Given the description of an element on the screen output the (x, y) to click on. 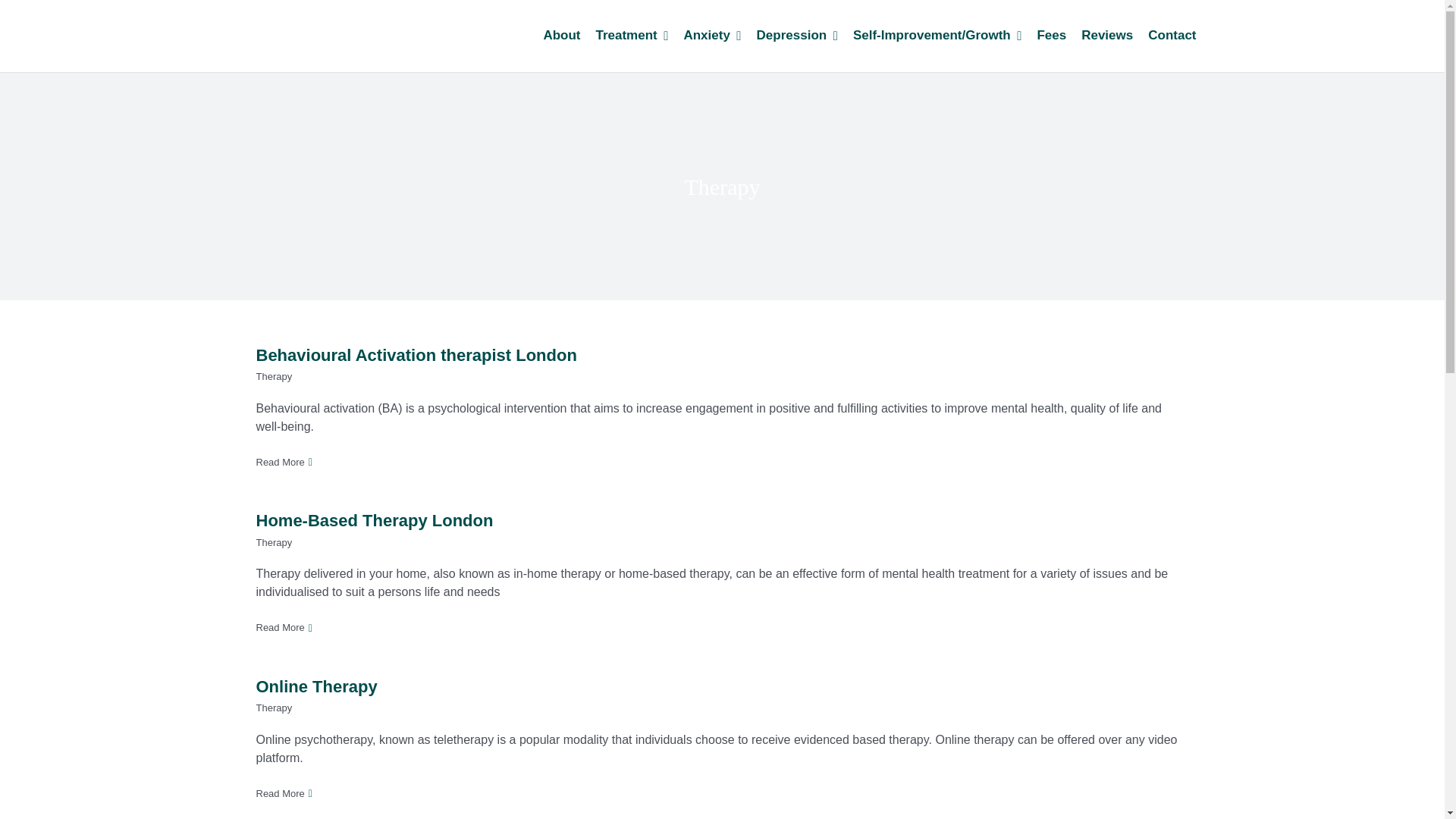
Anxiety (711, 35)
Treatment (631, 35)
Fees (1050, 35)
About (561, 35)
Depression (797, 35)
Contact (1171, 35)
Reviews (1106, 35)
